Given the description of an element on the screen output the (x, y) to click on. 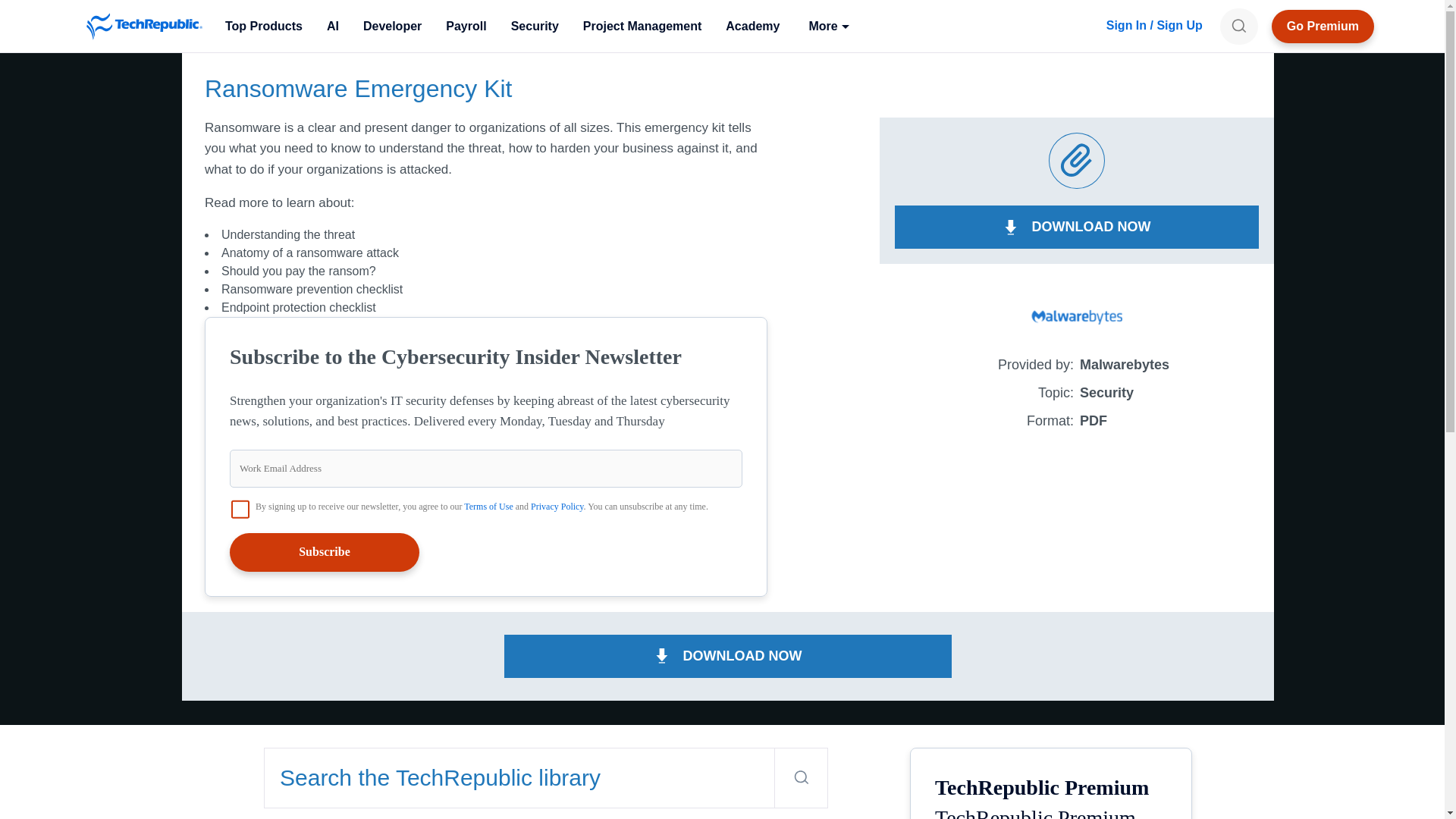
Academy (752, 26)
Payroll (465, 26)
Privacy Policy (557, 506)
on (239, 509)
Developer (392, 26)
DOWNLOAD NOW (727, 656)
TechRepublic (143, 25)
Terms of Use (488, 506)
Security (534, 26)
Subscribe (324, 551)
Top Products (263, 26)
Go Premium (1322, 25)
TechRepublic Premium (1322, 25)
TechRepublic (143, 25)
TechRepublic (143, 25)
